Given the description of an element on the screen output the (x, y) to click on. 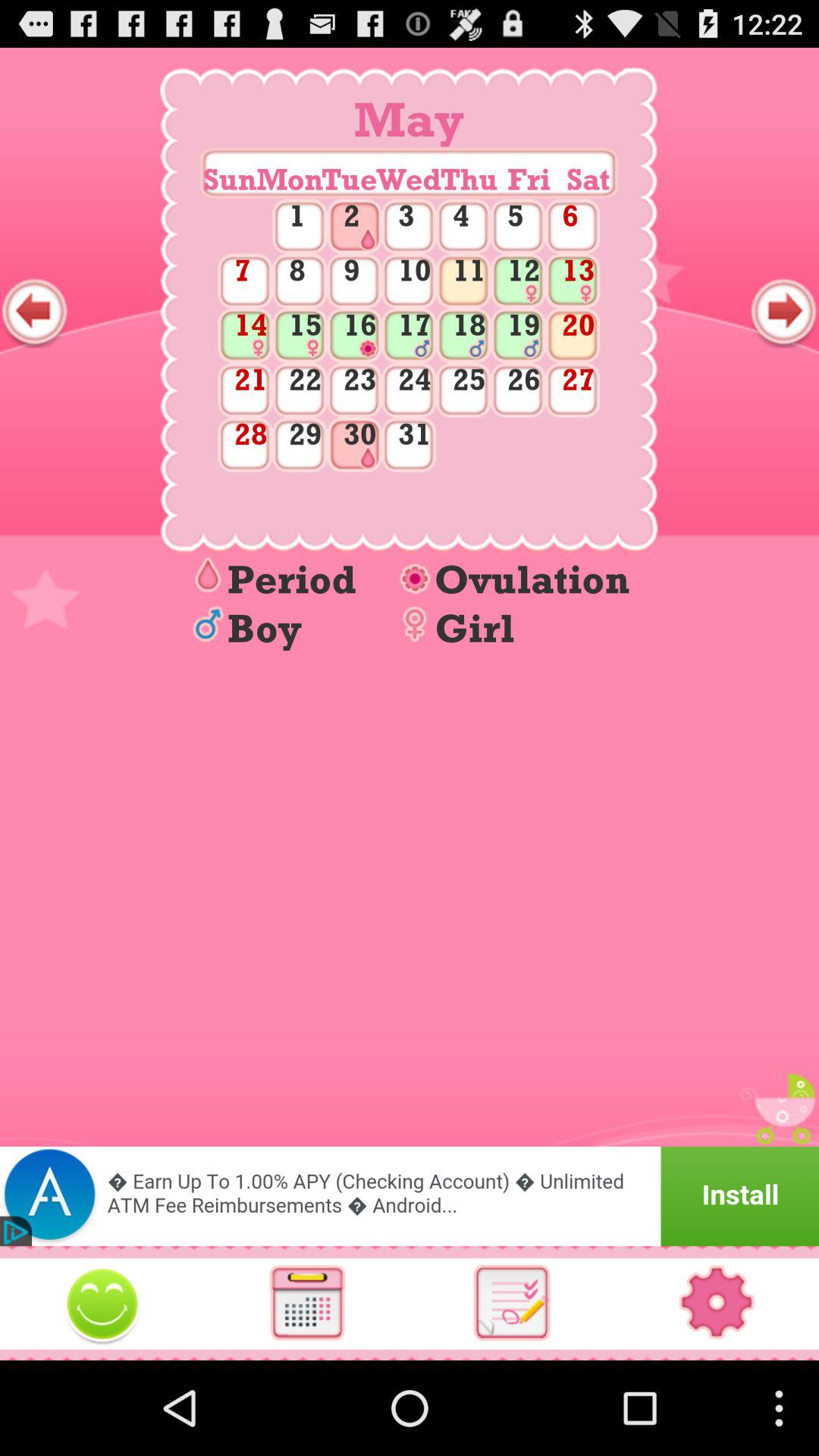
advertisement (409, 1196)
